Given the description of an element on the screen output the (x, y) to click on. 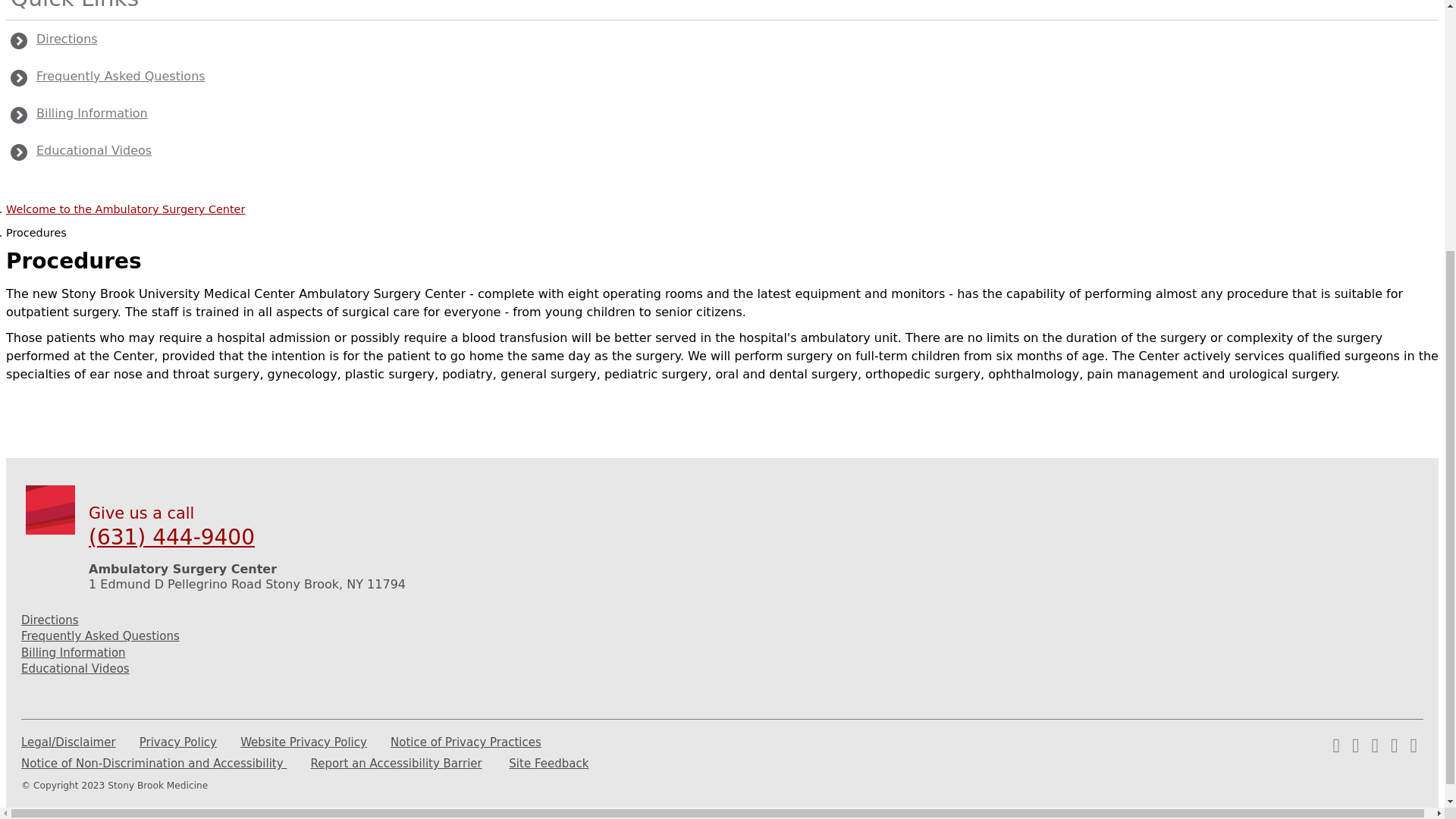
Billing Information (80, 113)
FAQs (108, 76)
Directions (54, 38)
